Given the description of an element on the screen output the (x, y) to click on. 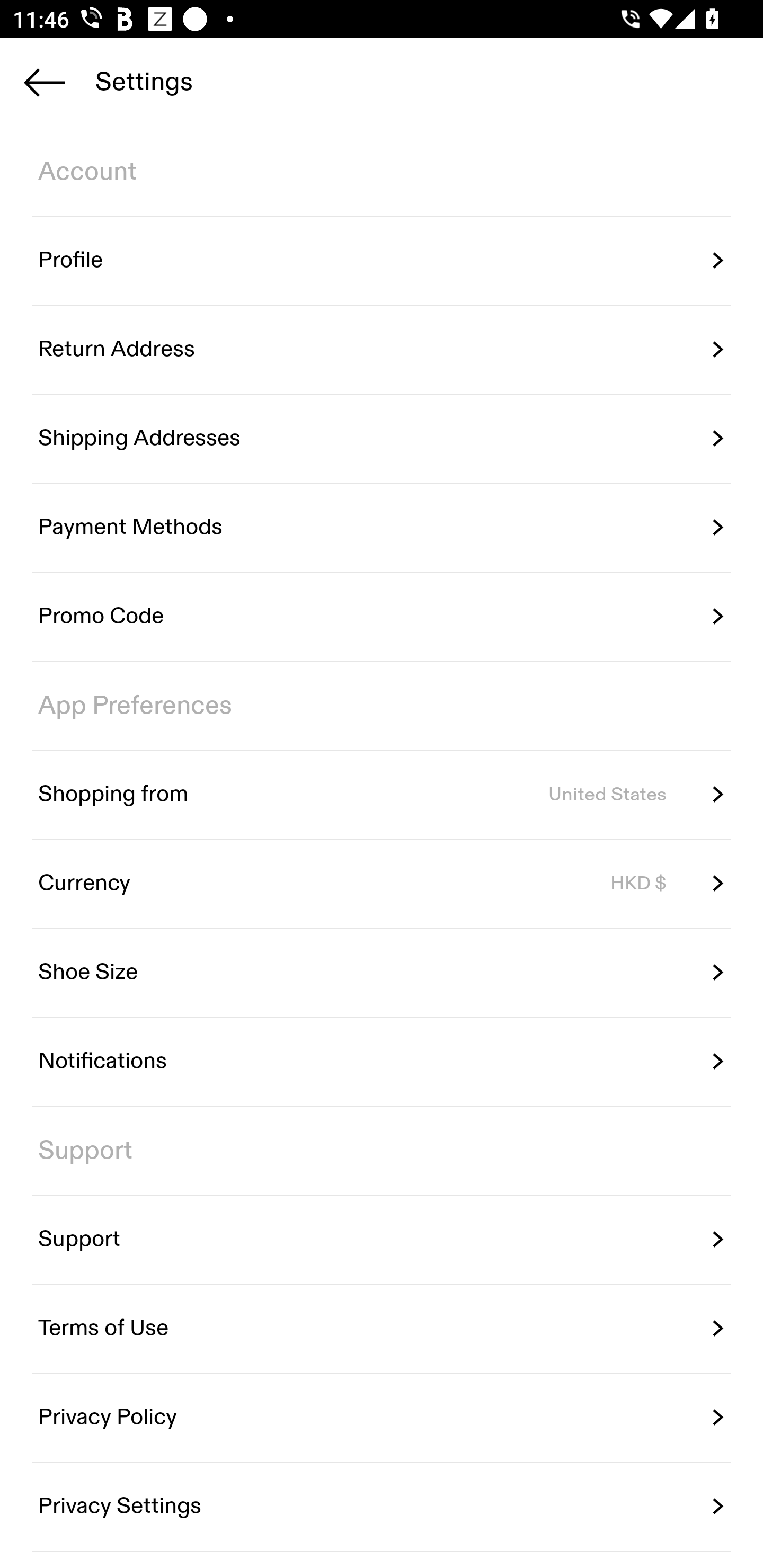
Navigate up (44, 82)
Profile (381, 260)
Return Address (381, 349)
Shipping Addresses (381, 437)
Payment Methods (381, 527)
Promo Code (381, 616)
Shopping from United States (381, 793)
Currency HKD $ (381, 883)
Shoe Size (381, 972)
Notifications (381, 1061)
Support (381, 1239)
Terms of Use (381, 1328)
Privacy Policy (381, 1417)
Privacy Settings (381, 1505)
